Given the description of an element on the screen output the (x, y) to click on. 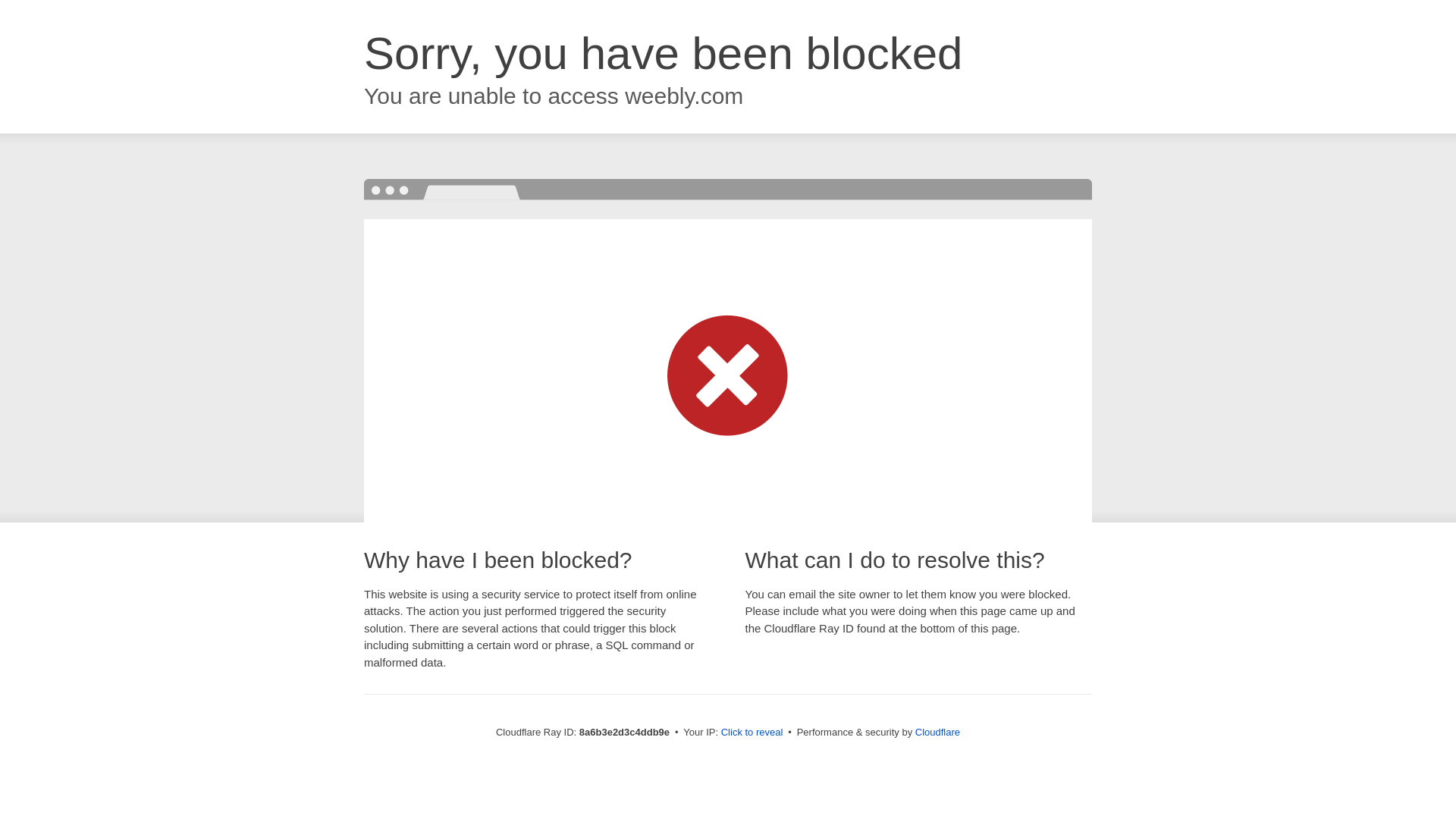
Click to reveal (751, 732)
Cloudflare (937, 731)
